Given the description of an element on the screen output the (x, y) to click on. 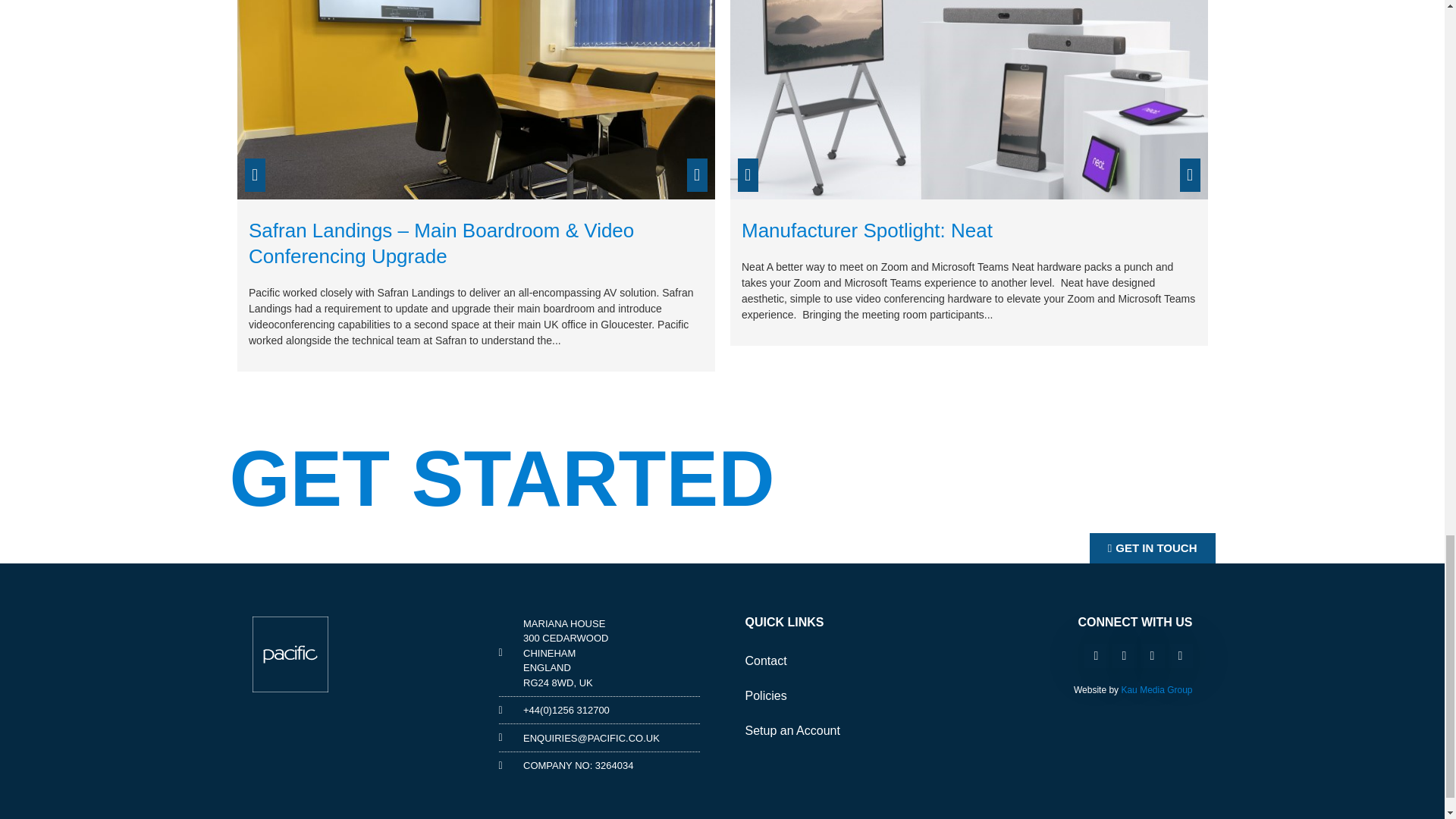
Manufacturer Spotlight: Neat (866, 230)
